Given the description of an element on the screen output the (x, y) to click on. 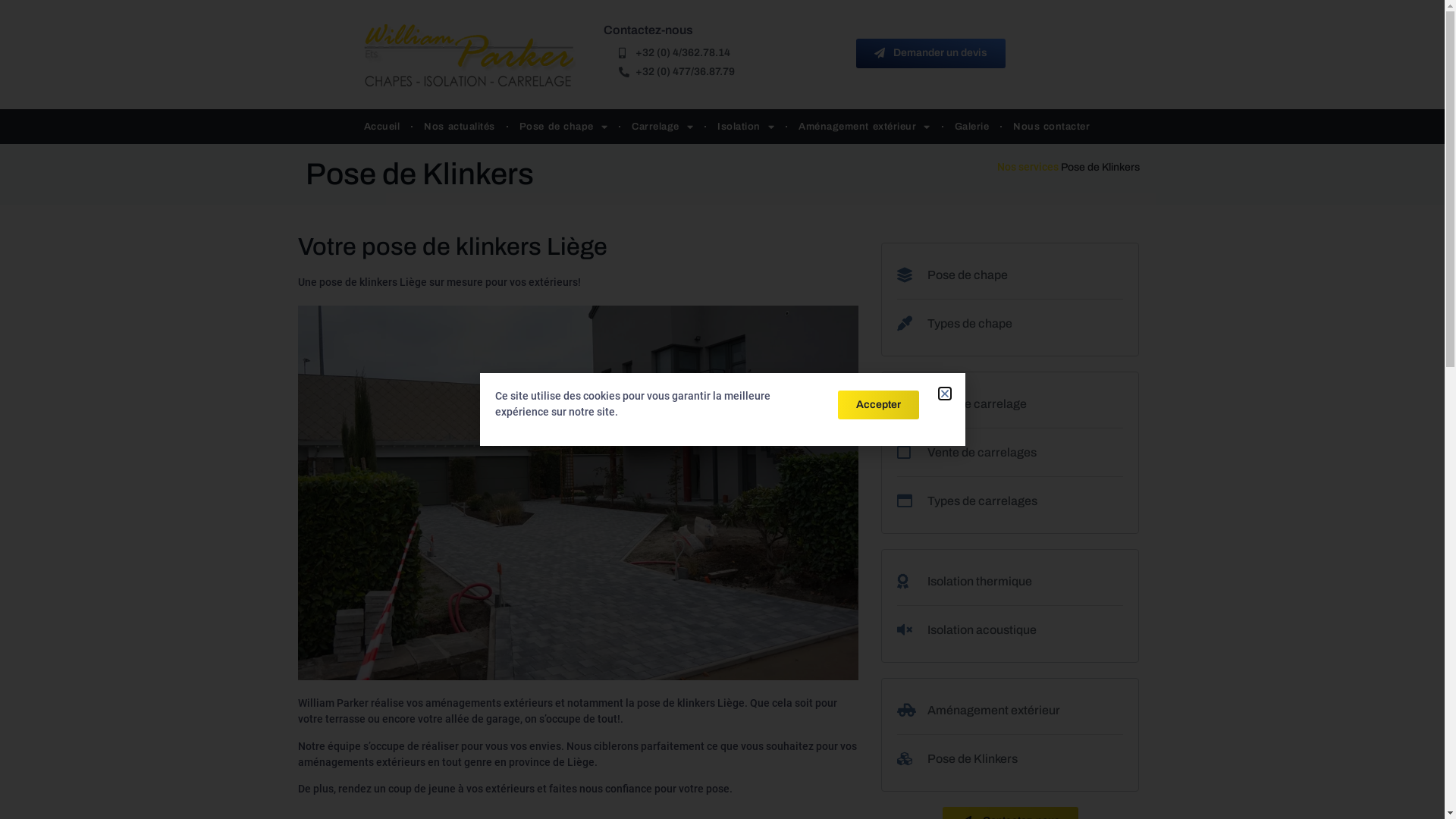
Pose de Klinkers Element type: text (1010, 758)
Isolation thermique Element type: text (1010, 581)
+32 (0) 477/36.87.79 Element type: text (729, 71)
Nous contacter Element type: text (1051, 126)
Carrelage Element type: text (662, 126)
Isolation Element type: text (745, 126)
Accueil Element type: text (381, 126)
Types de carrelages Element type: text (1010, 501)
Galerie Element type: text (972, 126)
+32 (0) 4/362.78.14 Element type: text (729, 52)
Pose de chape Element type: text (563, 126)
Types de chape Element type: text (1010, 323)
Vente de carrelages Element type: text (1010, 452)
Nos services Element type: text (1026, 166)
Pose de chape Element type: text (1010, 275)
Accepter Element type: text (878, 404)
Pose de carrelage Element type: text (1010, 404)
Isolation acoustique Element type: text (1010, 630)
Demander un devis Element type: text (930, 53)
